Given the description of an element on the screen output the (x, y) to click on. 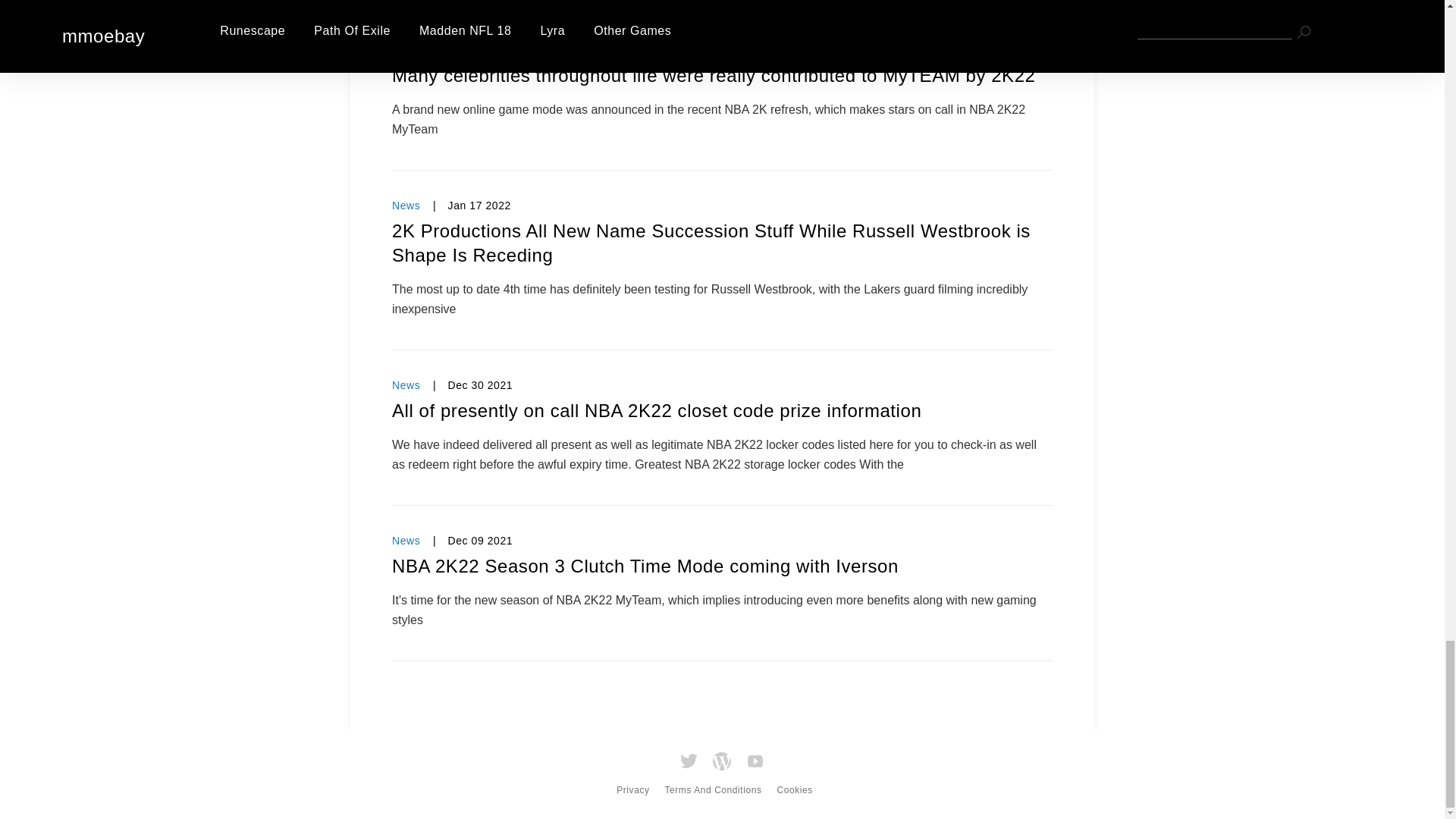
News (405, 50)
NBA 2K22 Season 3 Clutch Time Mode coming with Iverson (721, 566)
News (405, 385)
News (405, 540)
News (405, 205)
